Given the description of an element on the screen output the (x, y) to click on. 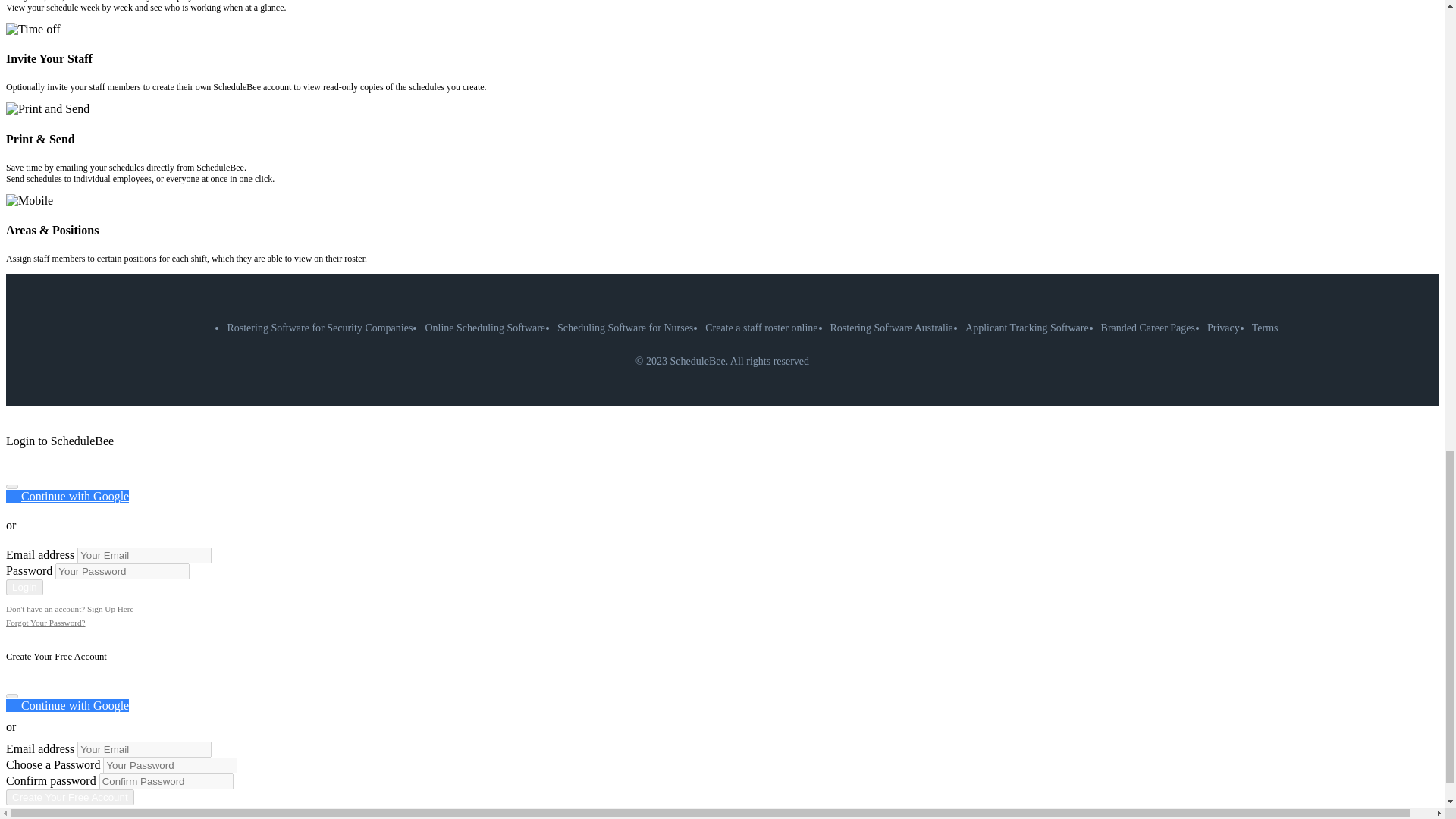
Login (24, 587)
Terms (1265, 327)
Rostering Software Australia (891, 327)
Don't have an account? Sign Up Here (69, 608)
Branded Career Pages (1147, 327)
Privacy (1223, 327)
Forgot Your Password? (45, 622)
Create Your Free Account (69, 796)
Online Scheduling Software (484, 327)
Continue with Google (67, 495)
Applicant Tracking Software (1027, 327)
Rostering Software for Security Companies (319, 327)
Continue with Google (67, 705)
Scheduling Software for Nurses (625, 327)
Create a staff roster online (760, 327)
